Given the description of an element on the screen output the (x, y) to click on. 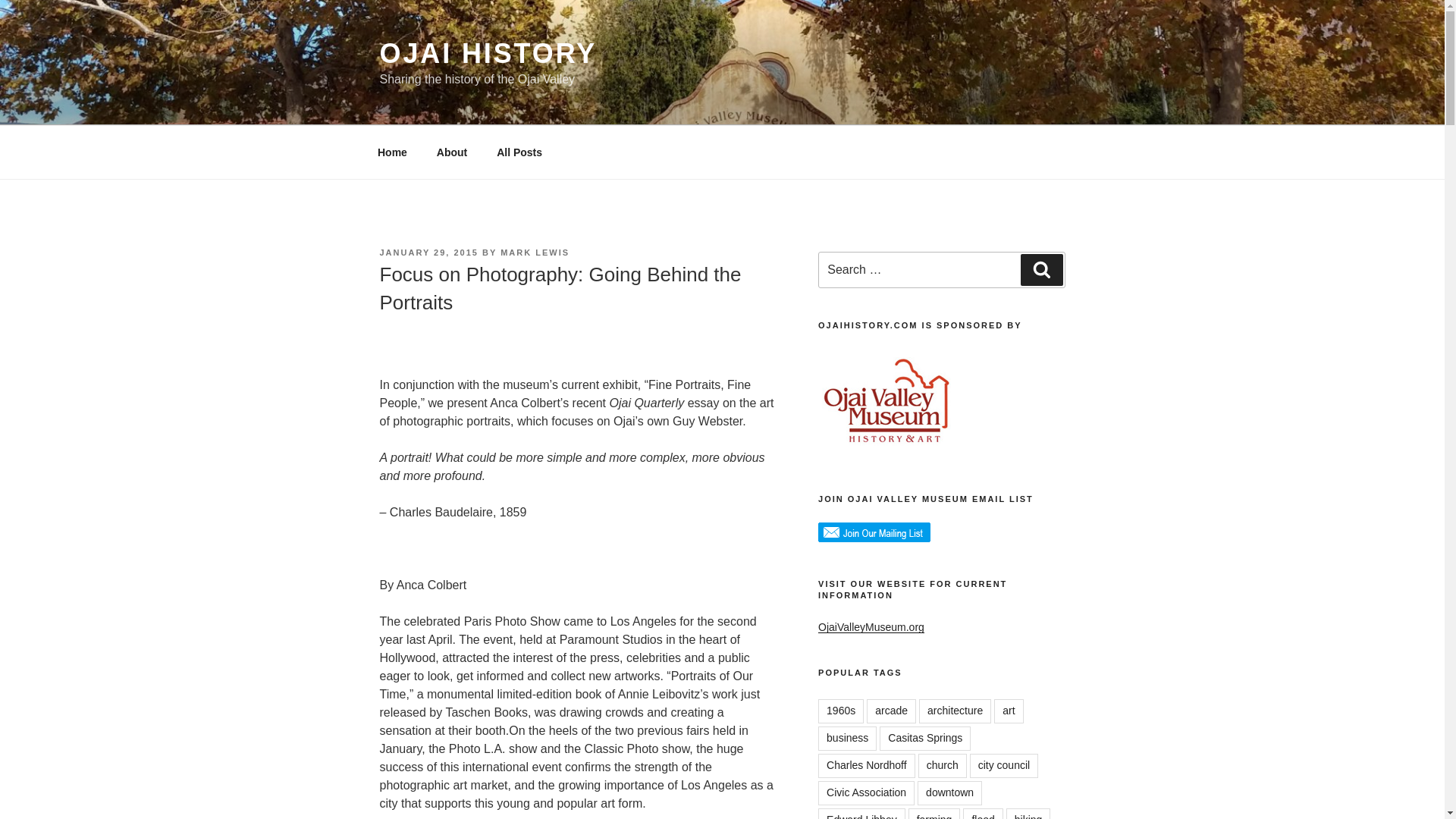
farming (934, 813)
Civic Association (866, 793)
art (1008, 711)
Charles Nordhoff (866, 765)
OJAI HISTORY (487, 52)
Edward Libbey (861, 813)
Casitas Springs (925, 738)
church (942, 765)
OjaiValleyMuseum.org (871, 626)
All Posts (519, 151)
About (451, 151)
JANUARY 29, 2015 (427, 252)
1960s (840, 711)
business (847, 738)
downtown (949, 793)
